Given the description of an element on the screen output the (x, y) to click on. 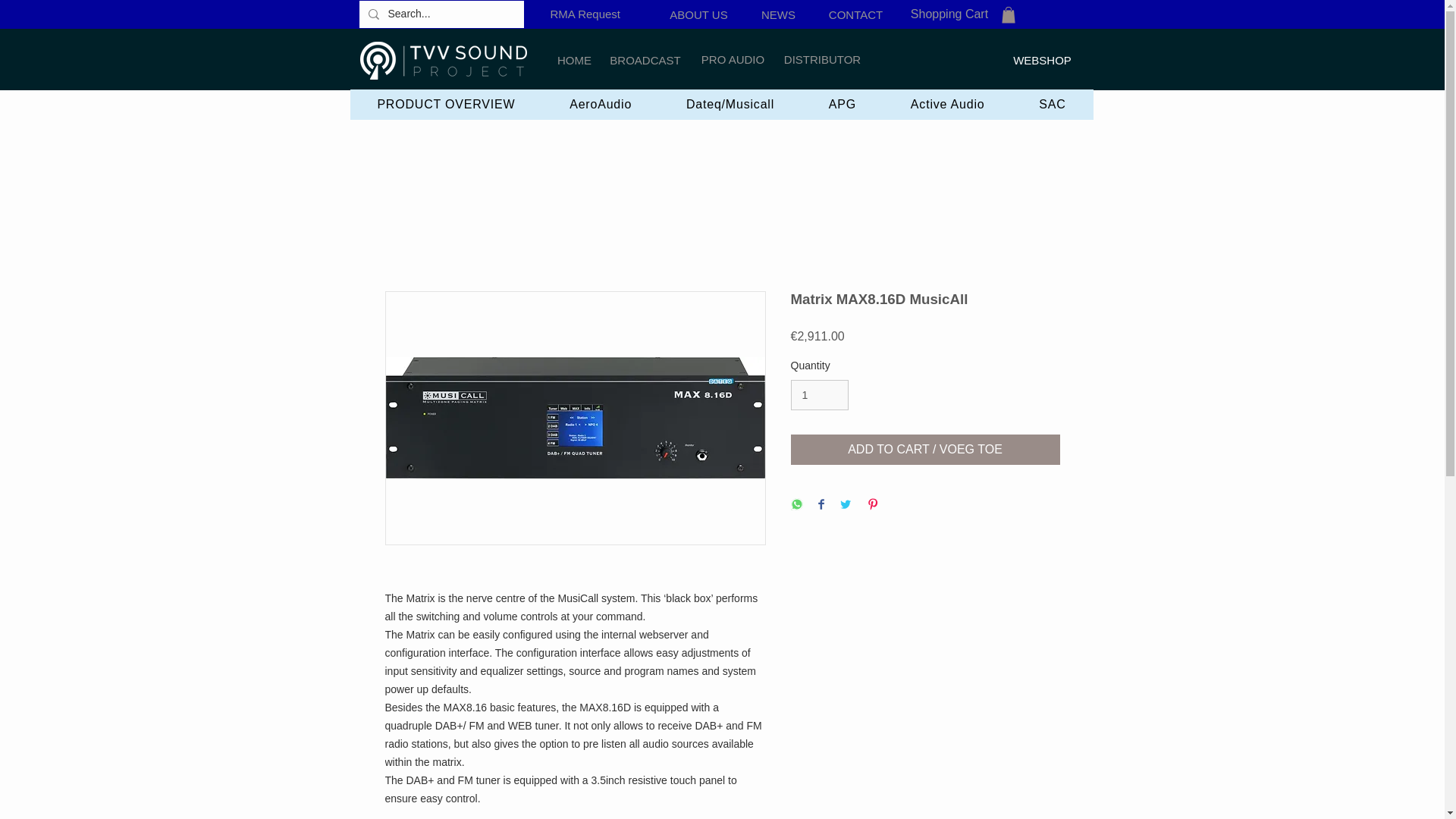
Shopping Cart (949, 14)
ABOUT US (697, 14)
NEWS (778, 14)
CONTACT (856, 14)
RMA Request (585, 13)
1 (818, 395)
